Given the description of an element on the screen output the (x, y) to click on. 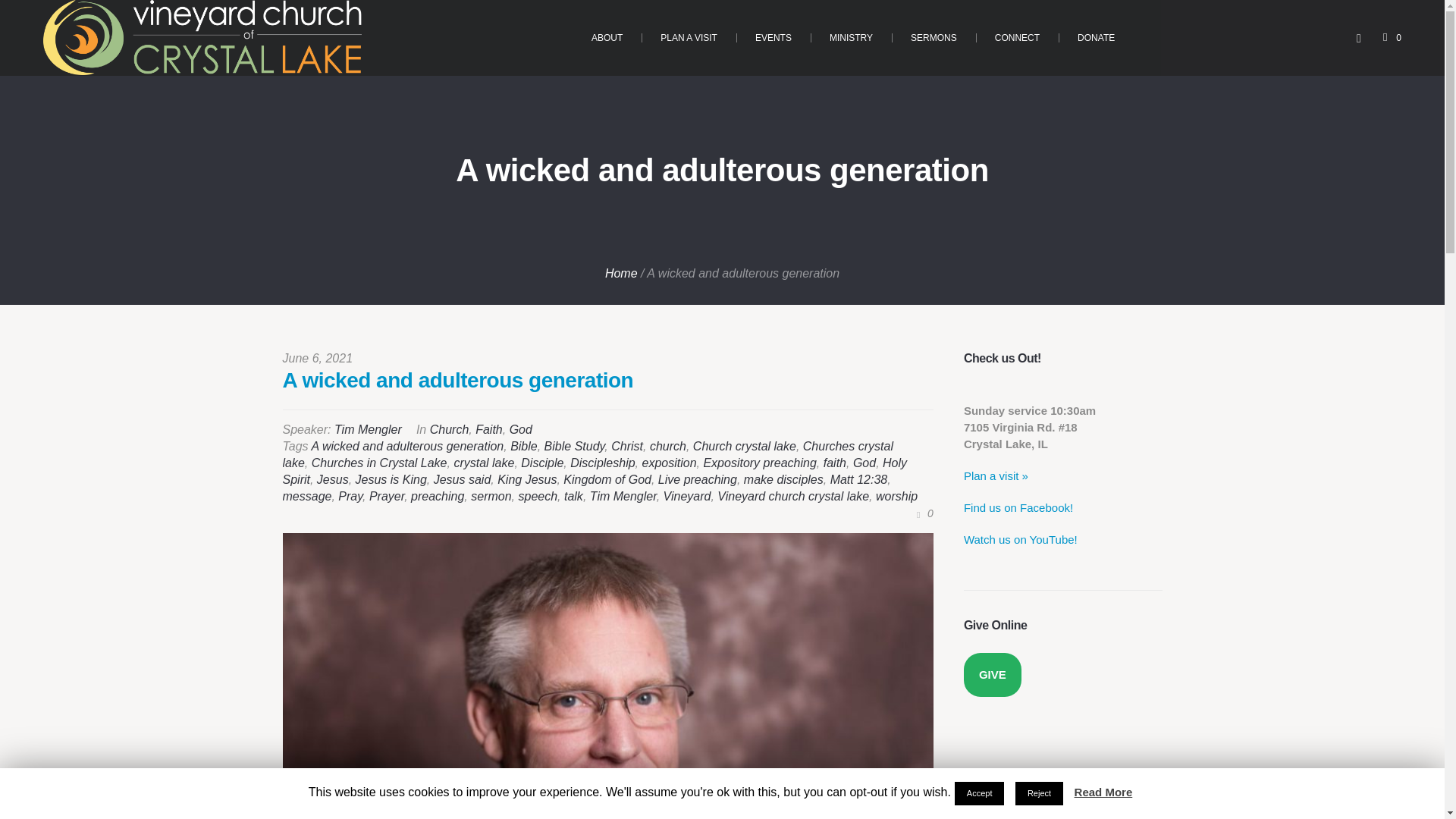
church (667, 445)
Speaker Tim Mengler (367, 429)
MINISTRY (850, 37)
Church crystal lake (744, 445)
Home (621, 273)
God (864, 462)
Bible (524, 445)
DONATE (1096, 37)
Bible Study (574, 445)
EVENTS (773, 37)
Churches crystal lake (587, 454)
Faith (489, 429)
Disciple (542, 462)
Christ (627, 445)
